Given the description of an element on the screen output the (x, y) to click on. 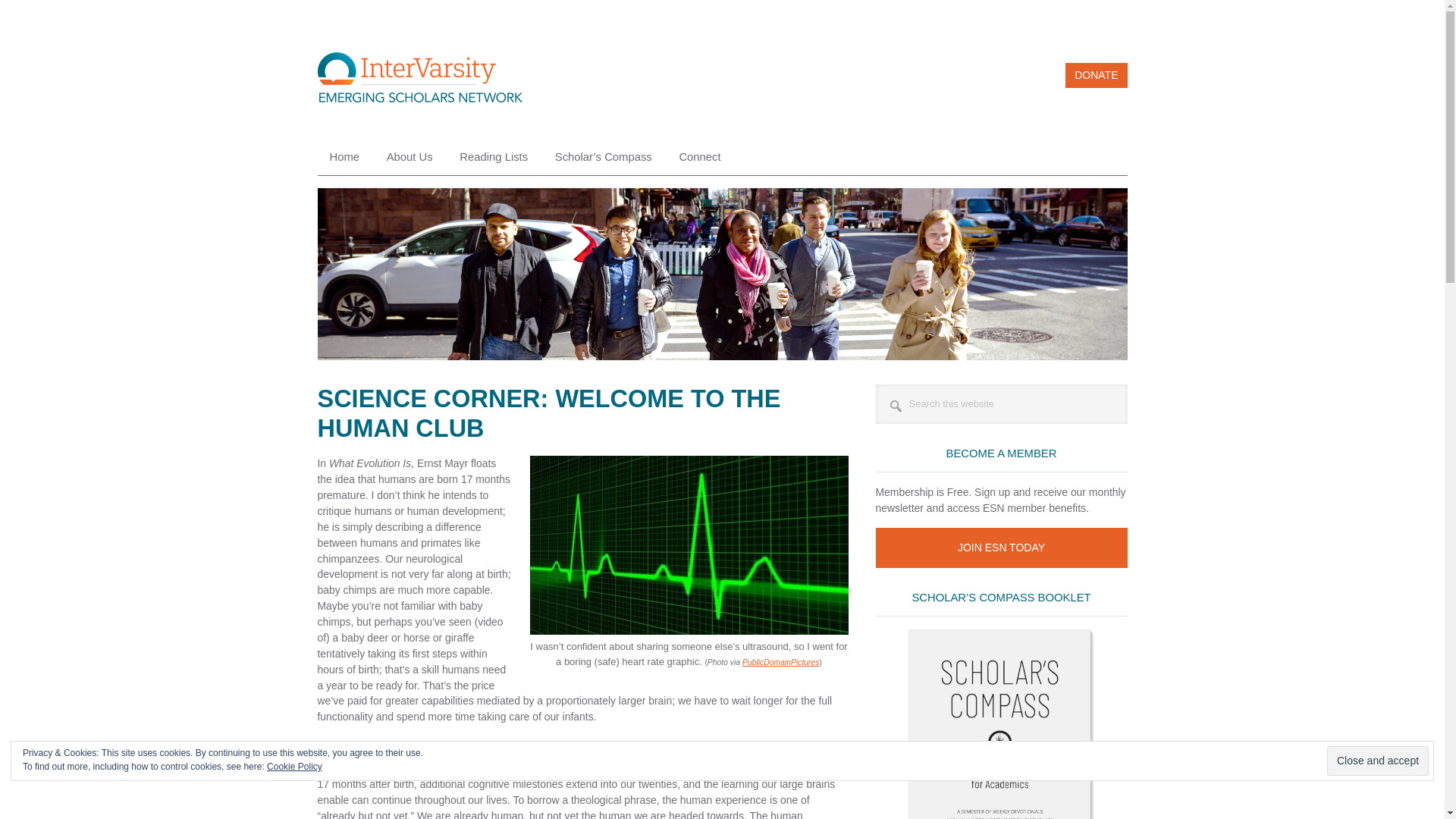
Reading Lists (493, 157)
DONATE (1095, 75)
EMERGING SCHOLARS BLOG (419, 81)
About Us (409, 157)
Connect (699, 157)
Close and accept (1377, 760)
Home (344, 157)
PublicDomainPictures (780, 662)
